Given the description of an element on the screen output the (x, y) to click on. 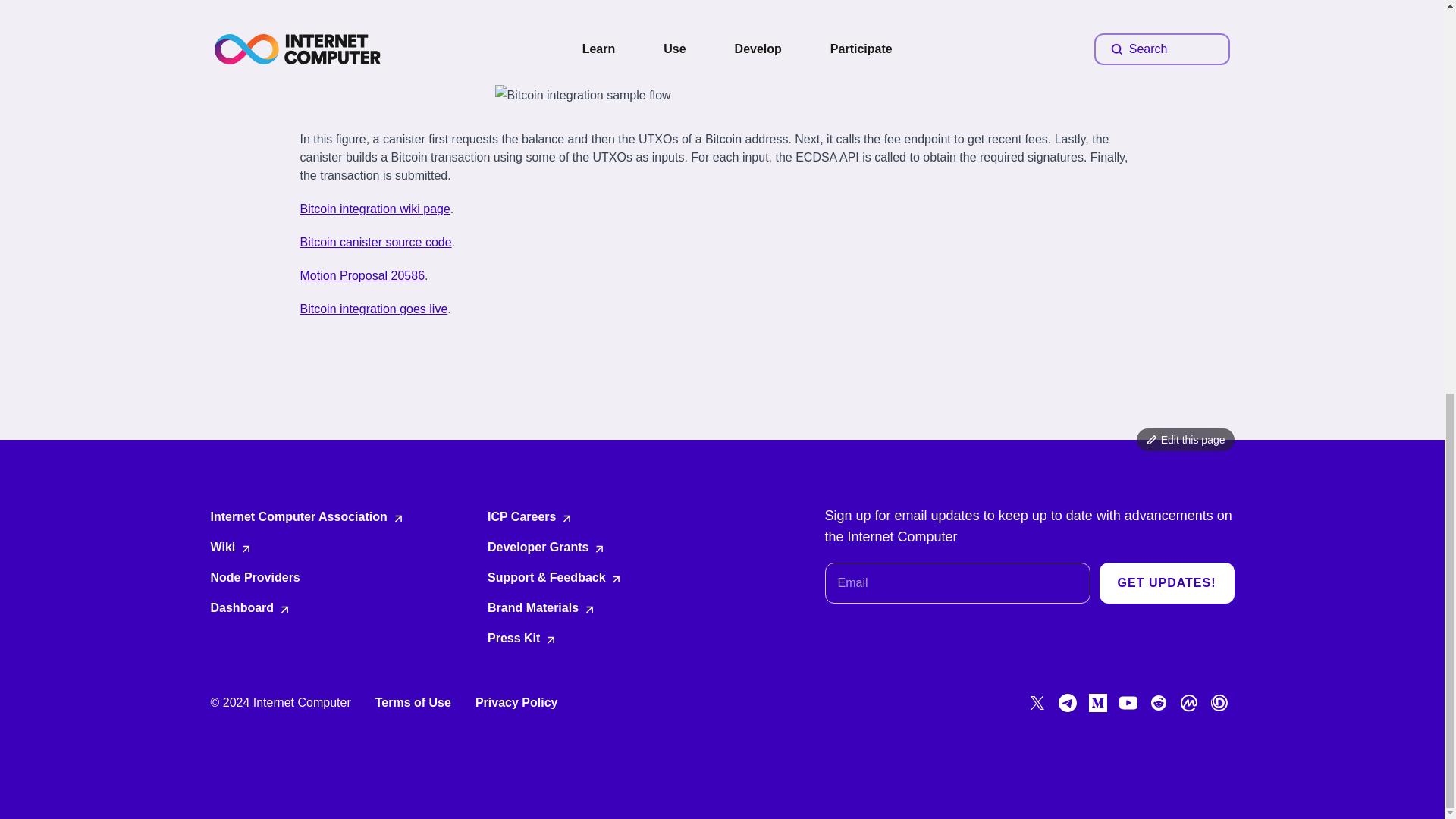
Bitcoin integration sample flow (722, 95)
